Given the description of an element on the screen output the (x, y) to click on. 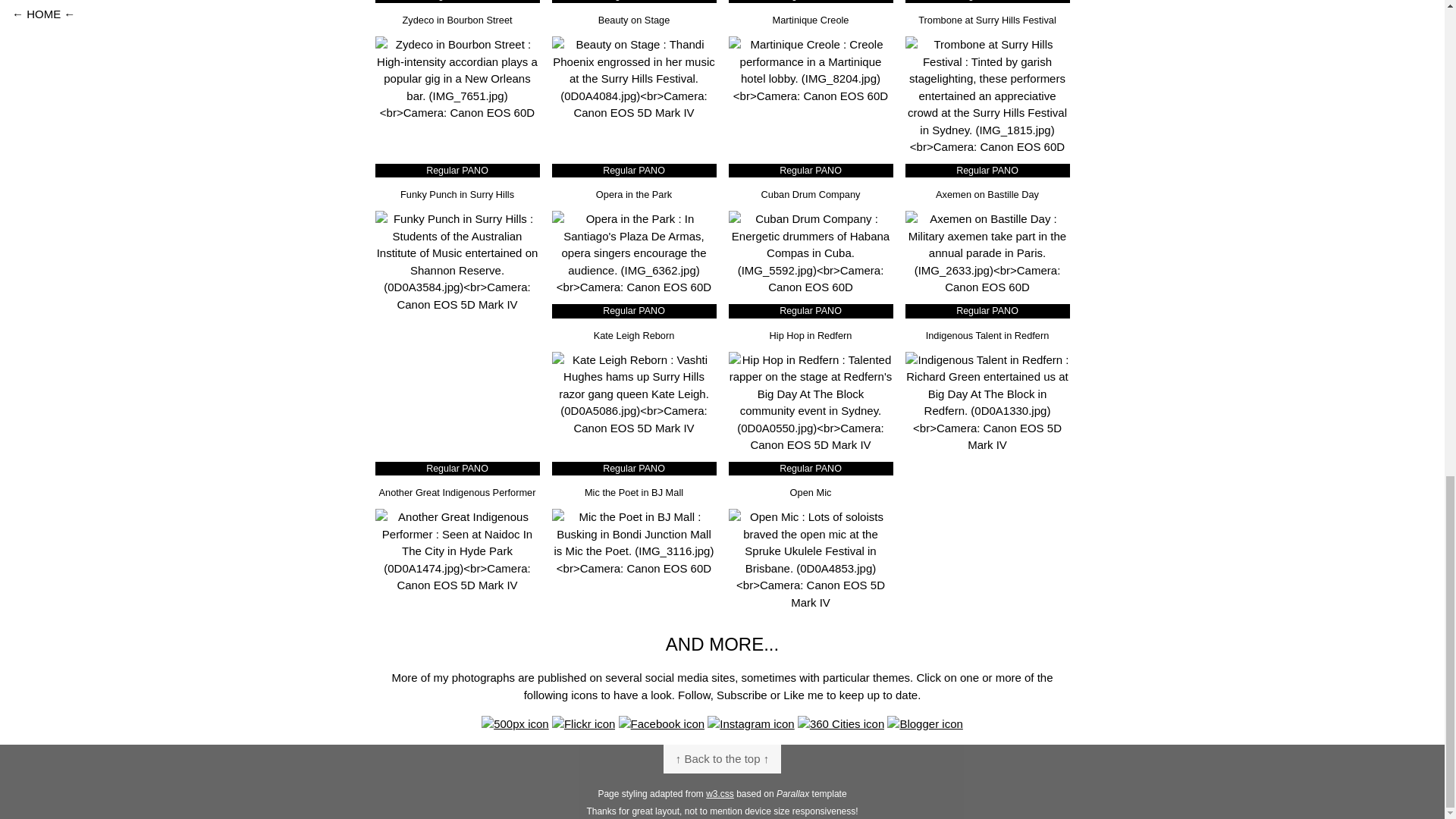
My favourite images on 500px (514, 722)
w3.css (719, 793)
